Given the description of an element on the screen output the (x, y) to click on. 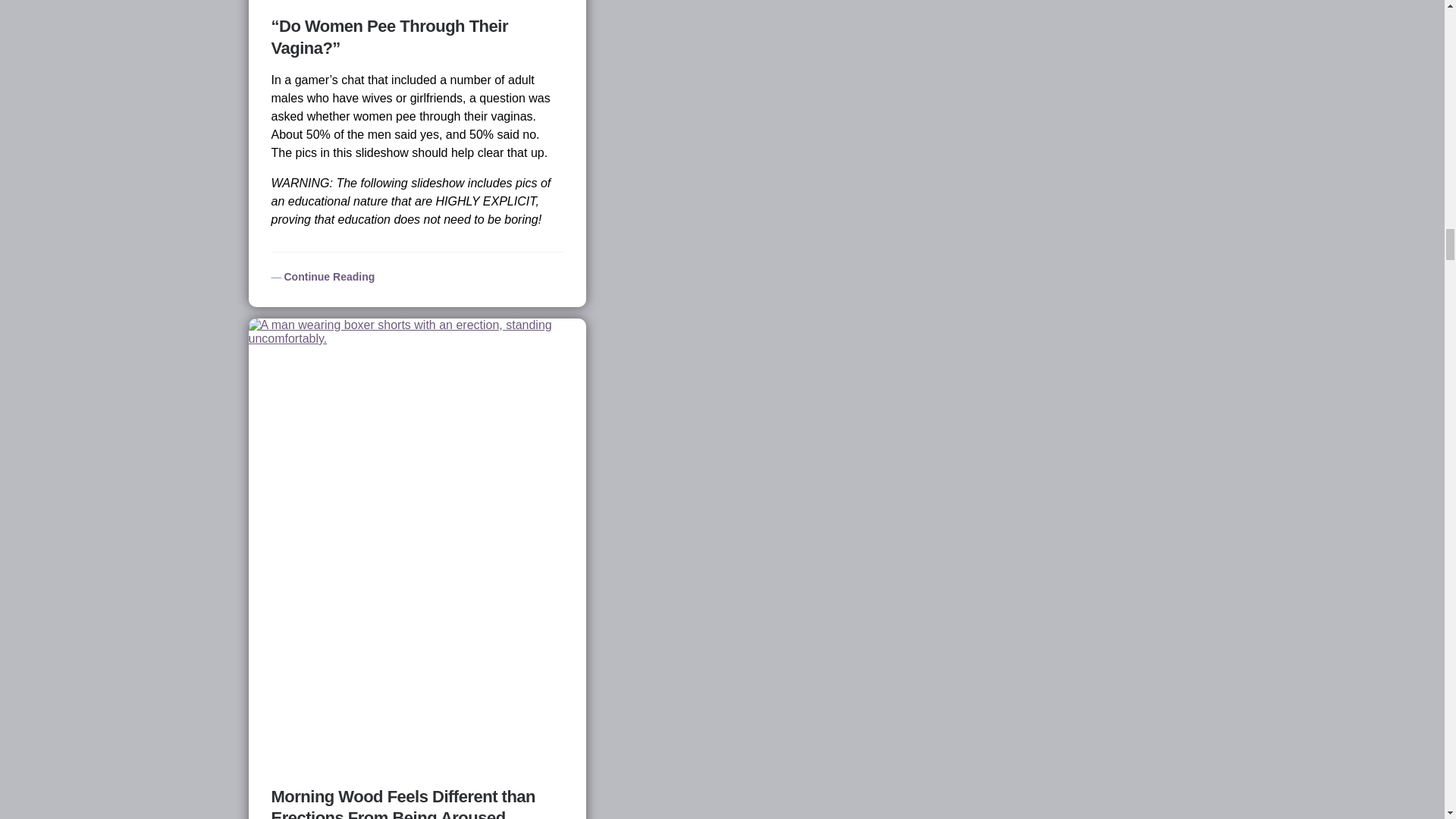
Continue Reading (322, 276)
